Given the description of an element on the screen output the (x, y) to click on. 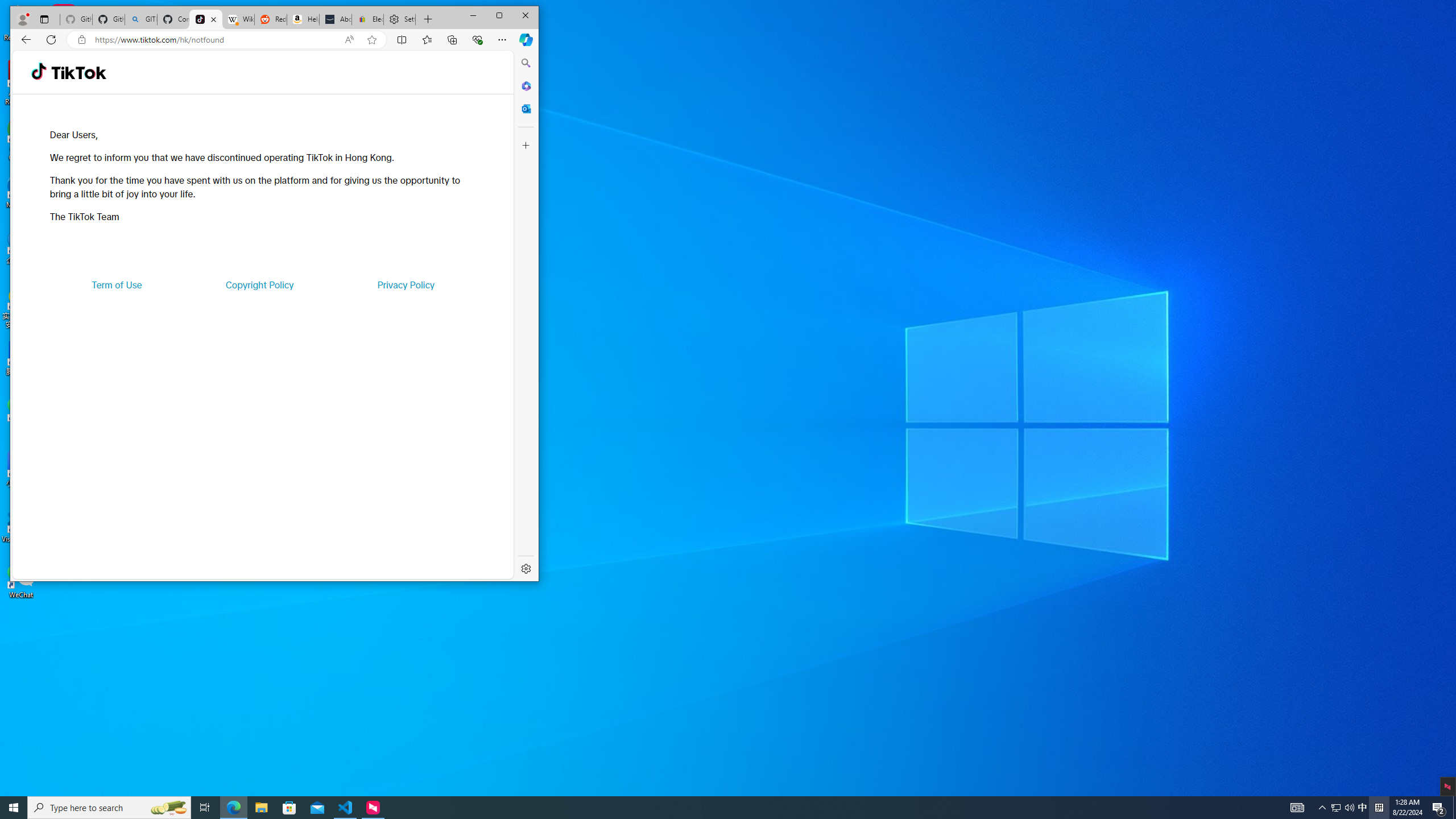
Running applications (707, 807)
AutomationID: 4105 (1297, 807)
Task View (204, 807)
Notification Chevron (1322, 807)
Copyright Policy (259, 284)
File Explorer (261, 807)
Maximize (499, 15)
Show desktop (1454, 807)
